Given the description of an element on the screen output the (x, y) to click on. 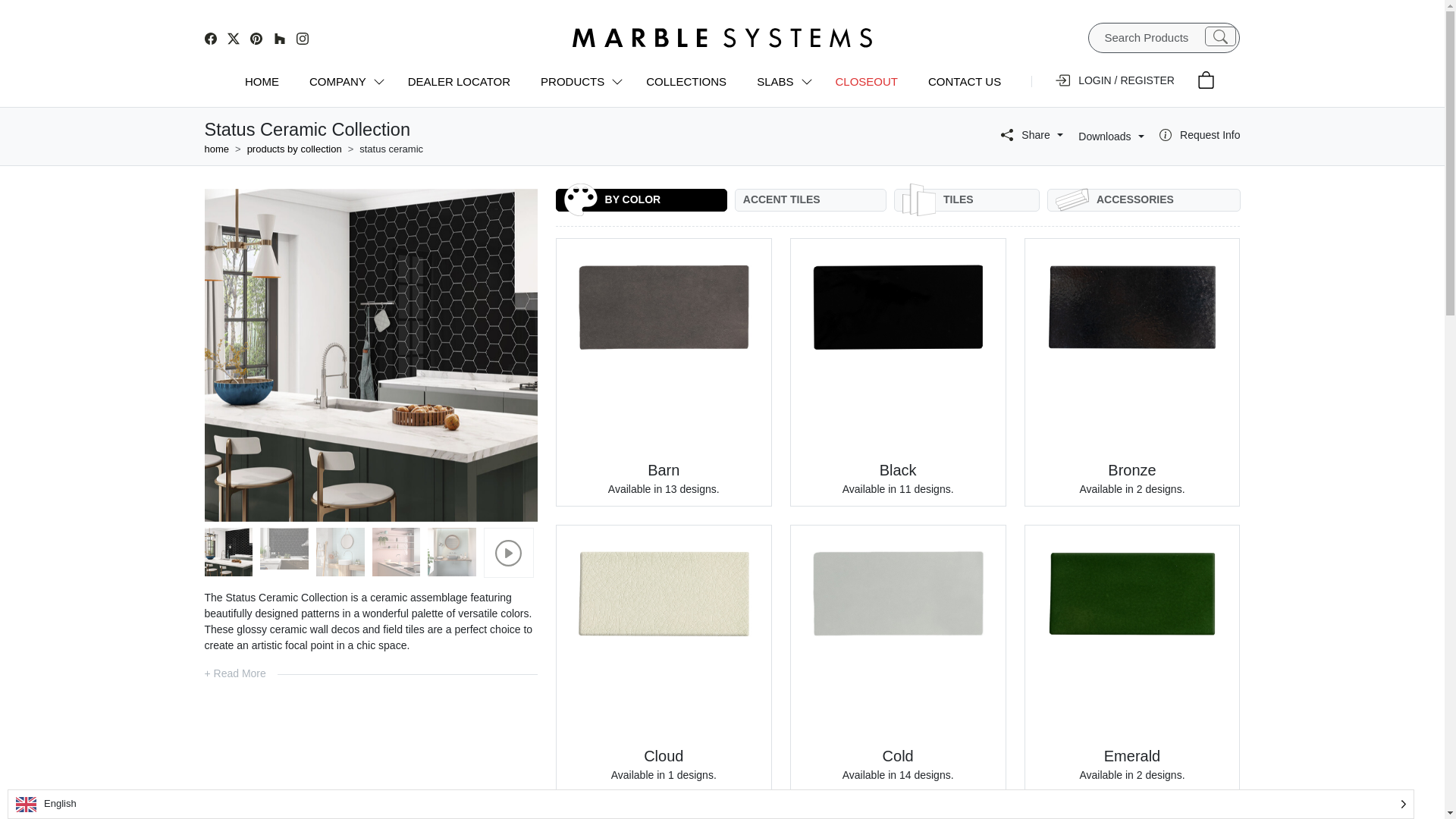
DEALER LOCATOR (459, 81)
PRODUCTS (577, 81)
HOME (262, 81)
COMPANY (343, 81)
